Given the description of an element on the screen output the (x, y) to click on. 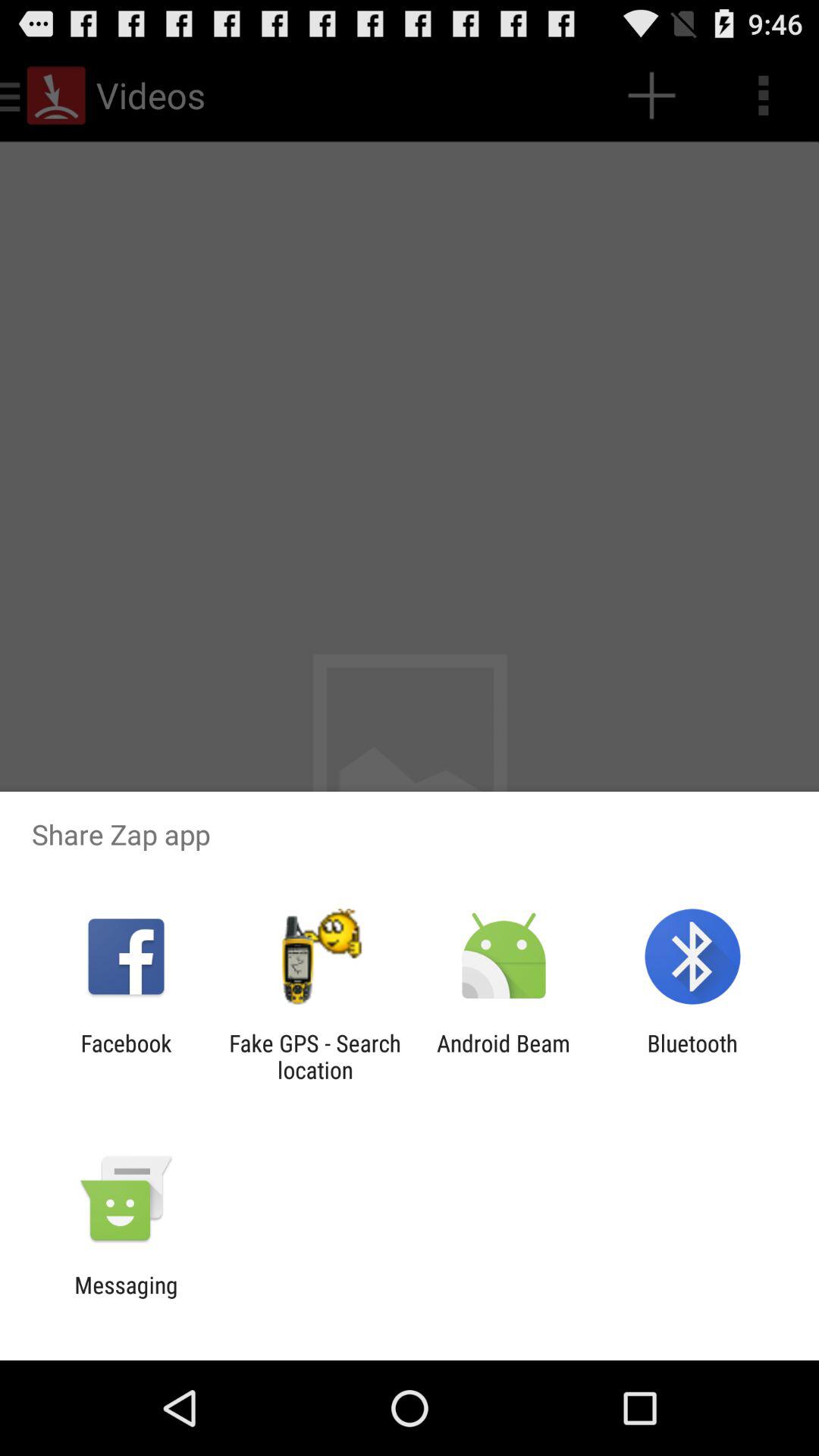
turn off app next to facebook (314, 1056)
